Given the description of an element on the screen output the (x, y) to click on. 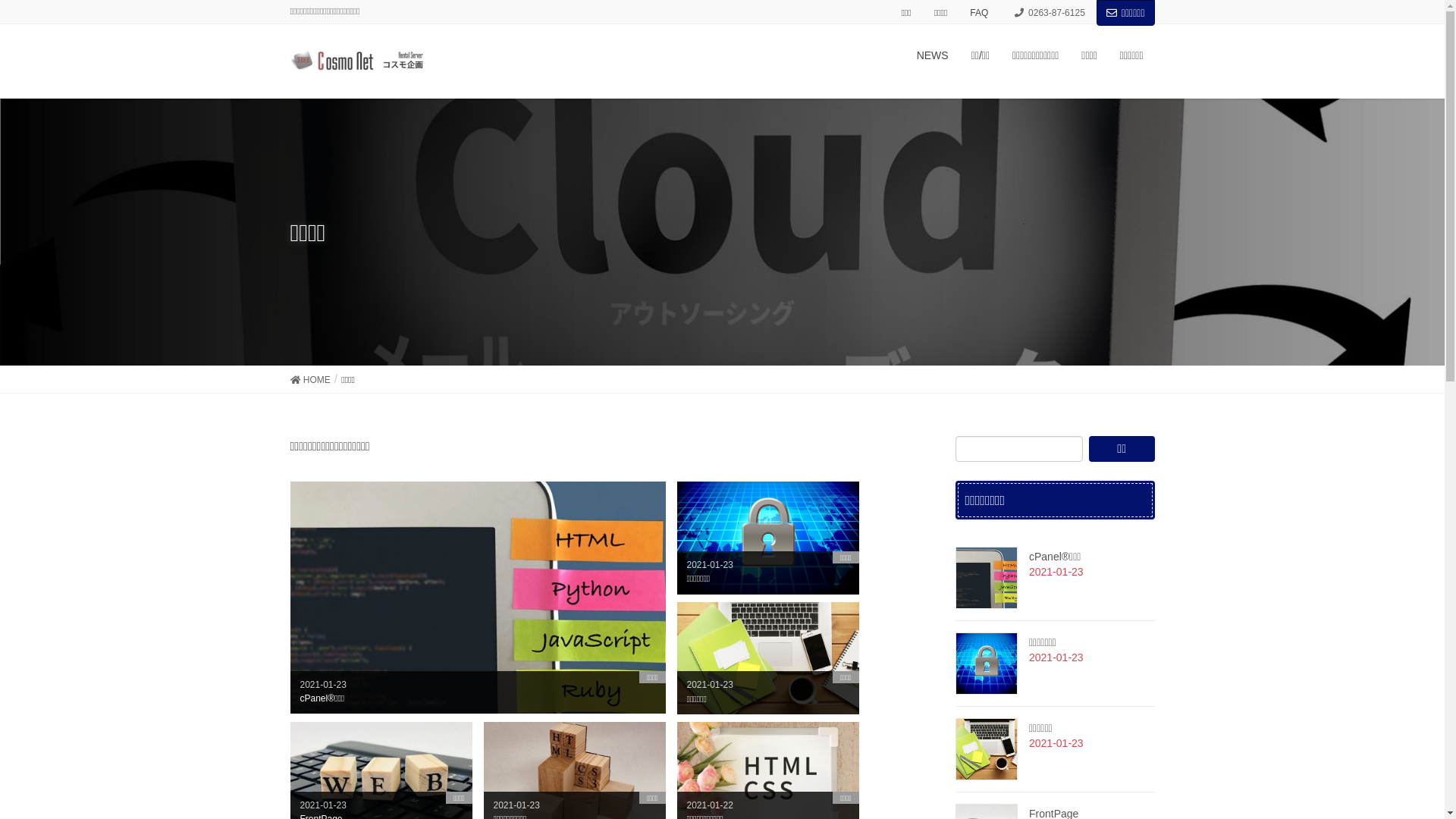
NEWS Element type: text (932, 55)
HOME Element type: text (309, 379)
FAQ Element type: text (978, 13)
